Given the description of an element on the screen output the (x, y) to click on. 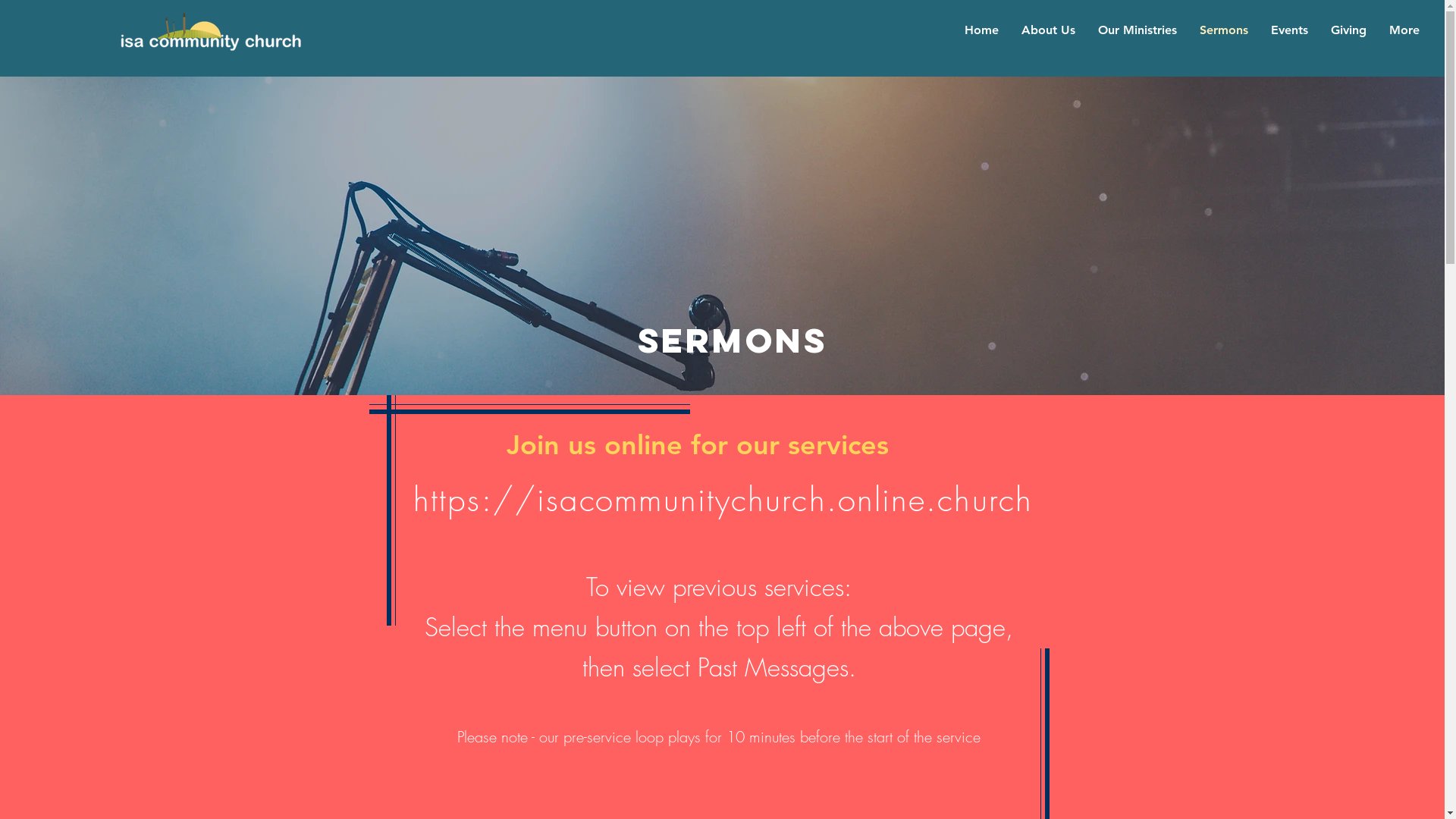
Giving Element type: text (1348, 30)
Sermons Element type: text (1222, 30)
About Us Element type: text (1048, 30)
Home Element type: text (980, 30)
https://isacommunitychurch.online.church Element type: text (722, 499)
Our Ministries Element type: text (1136, 30)
Events Element type: text (1288, 30)
